Given the description of an element on the screen output the (x, y) to click on. 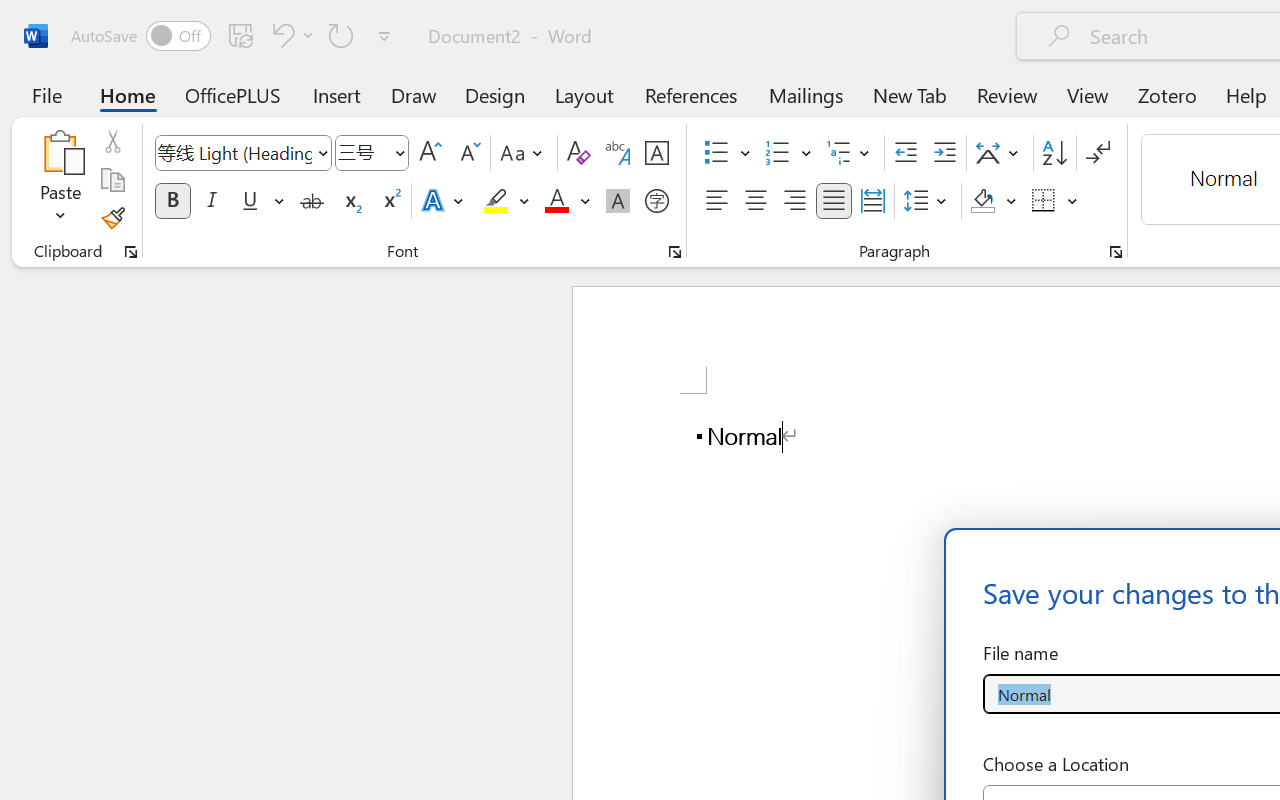
Repeat Typing (341, 35)
Shading (993, 201)
Font Size (362, 152)
Sort... (1054, 153)
Layout (584, 94)
Superscript (390, 201)
Borders (1055, 201)
Shrink Font (468, 153)
Underline (250, 201)
Character Shading (618, 201)
Change Case (524, 153)
Bold (172, 201)
Align Right (794, 201)
Cut (112, 141)
Design (495, 94)
